Given the description of an element on the screen output the (x, y) to click on. 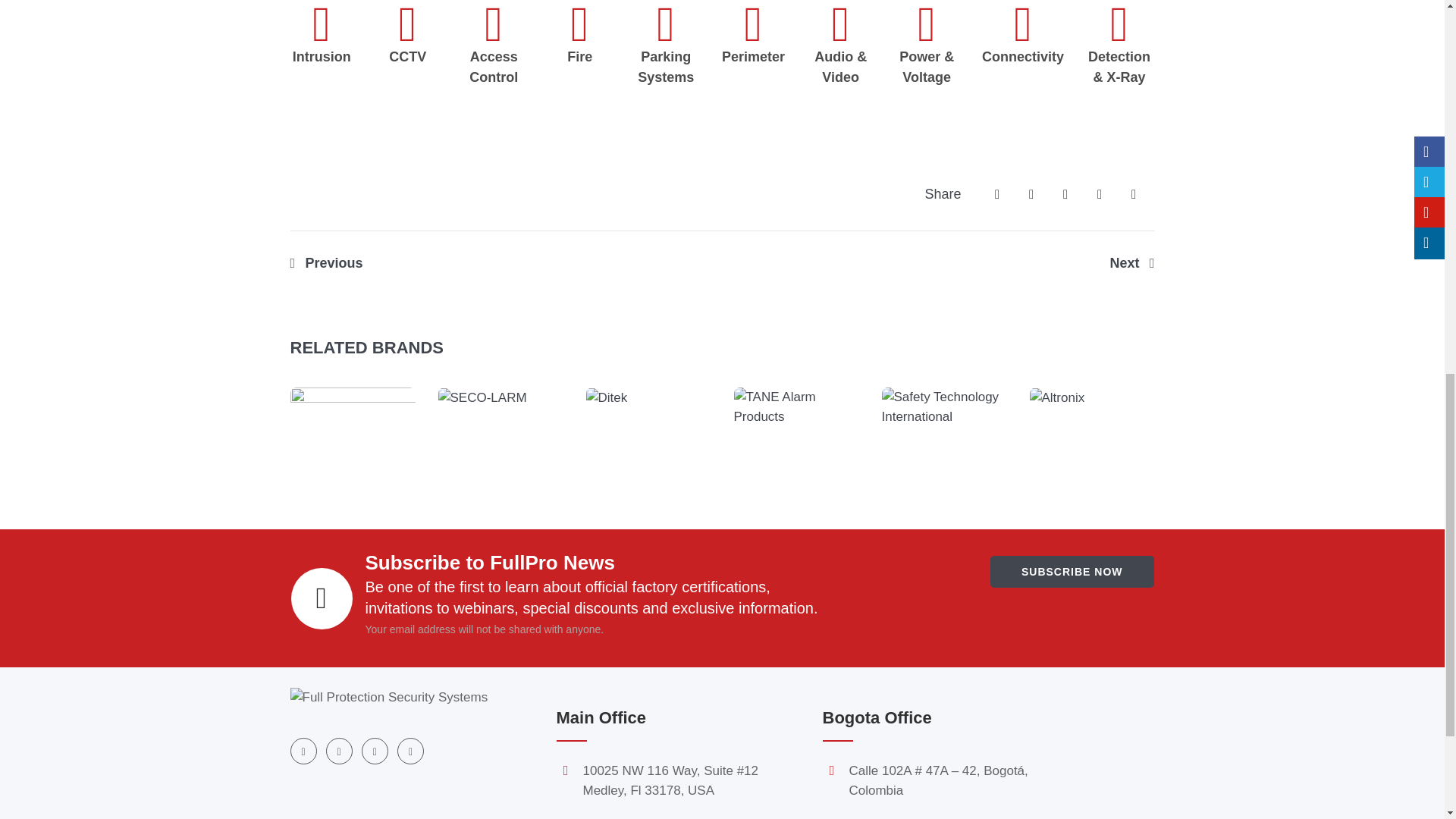
Parking Systems (665, 56)
CCTV (407, 46)
Perimeter (753, 46)
Intrusion (321, 46)
